Given the description of an element on the screen output the (x, y) to click on. 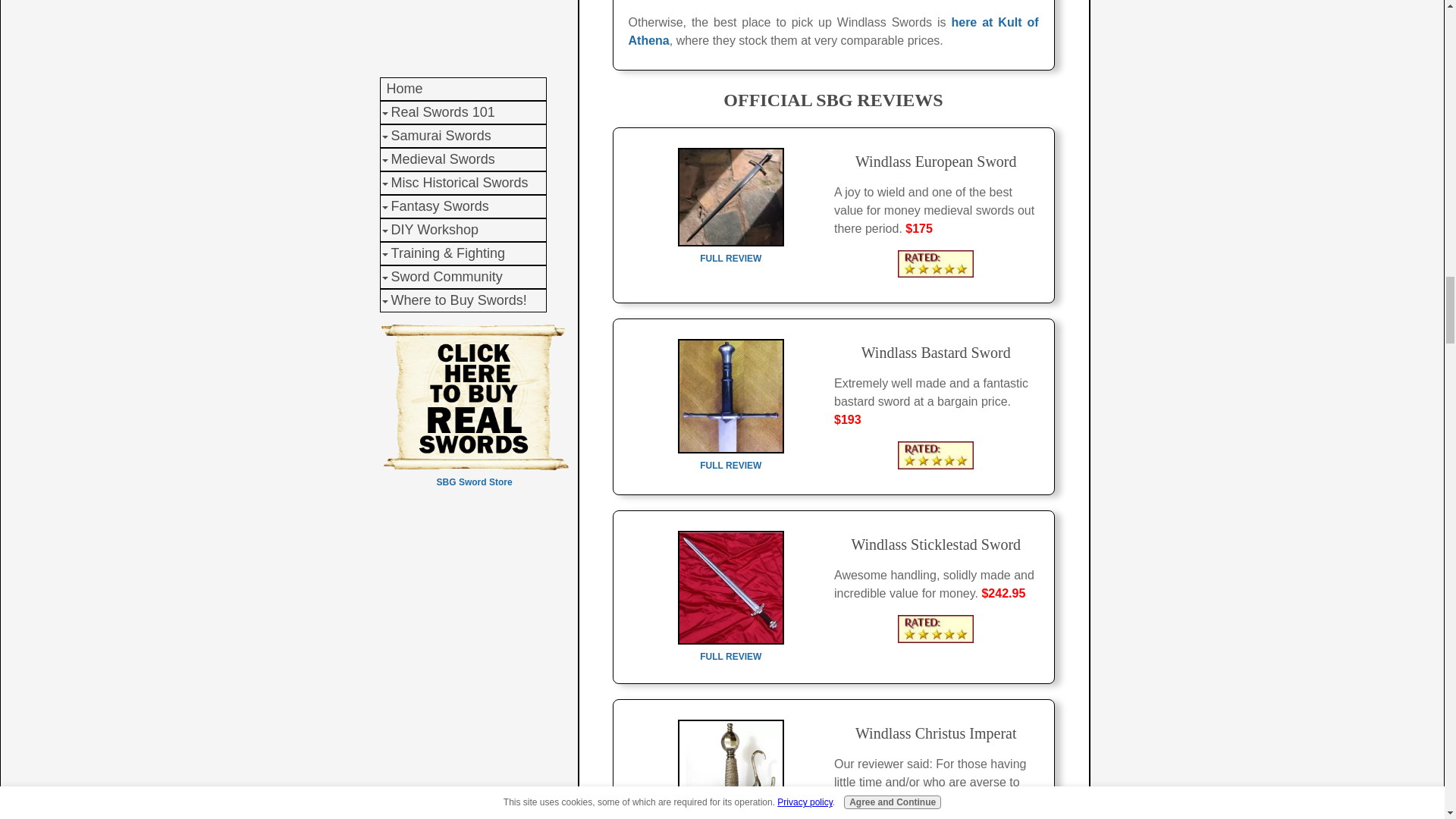
Go to Windlass Steelcrafts German Bastard Sword Review (730, 457)
Go to Windlass Sticklestad Sword Review (730, 648)
Go to Windlass Steelcrafts European Sword (730, 250)
